Given the description of an element on the screen output the (x, y) to click on. 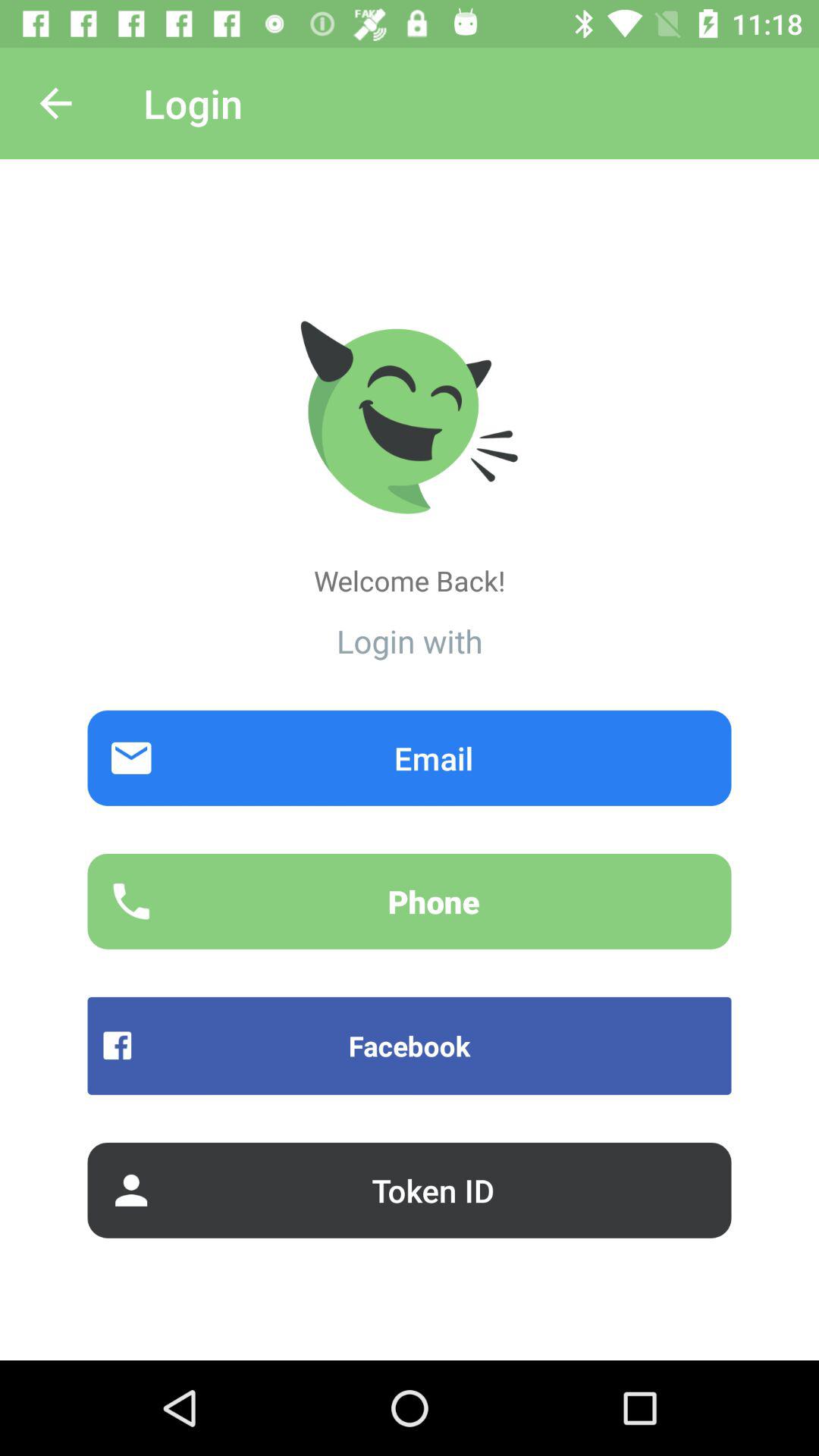
launch item next to the login item (55, 103)
